Given the description of an element on the screen output the (x, y) to click on. 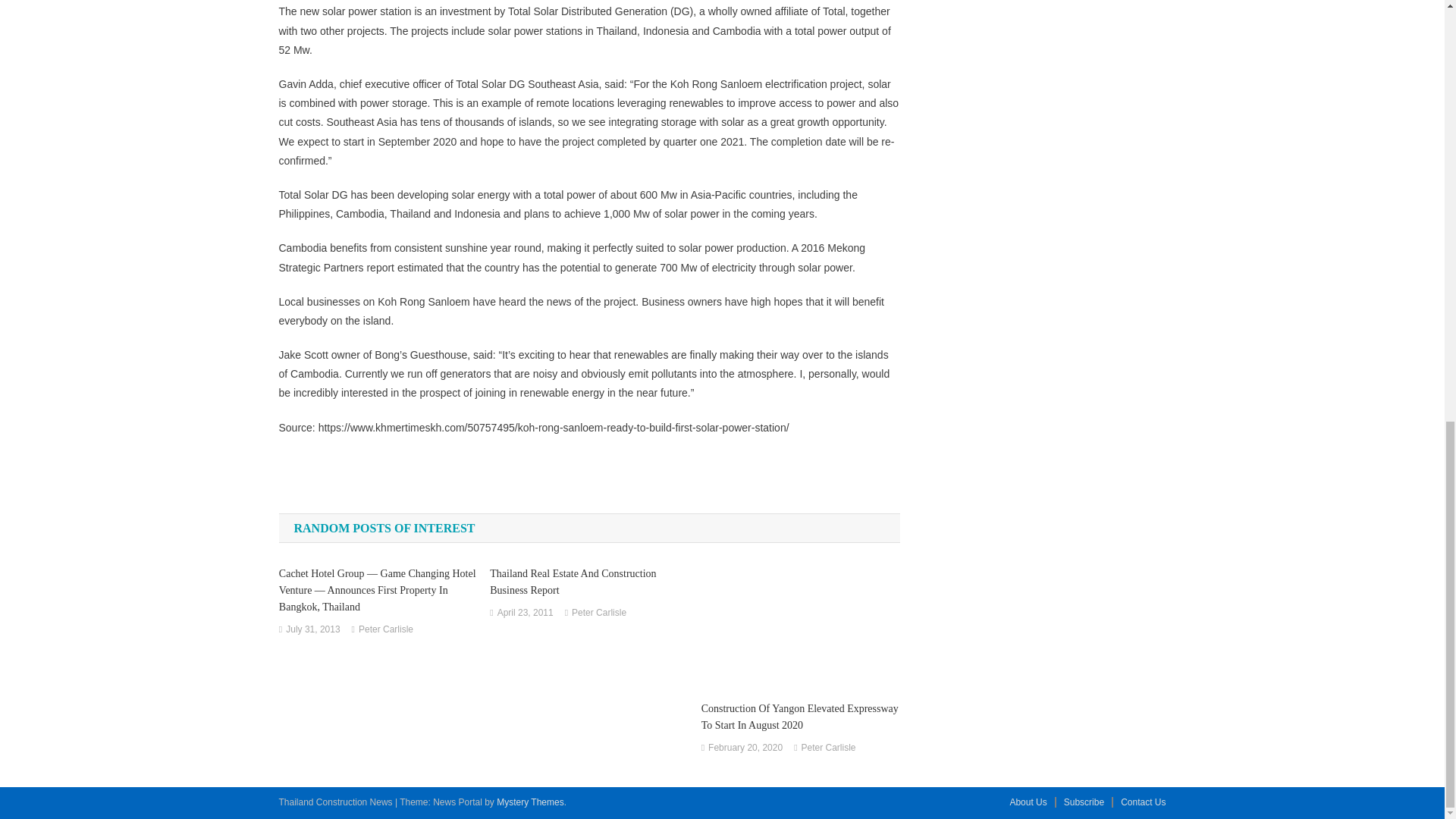
Peter Carlisle (385, 629)
April 23, 2011 (525, 613)
Thailand Real Estate And Construction Business Report (588, 581)
Peter Carlisle (599, 613)
July 31, 2013 (312, 629)
